Given the description of an element on the screen output the (x, y) to click on. 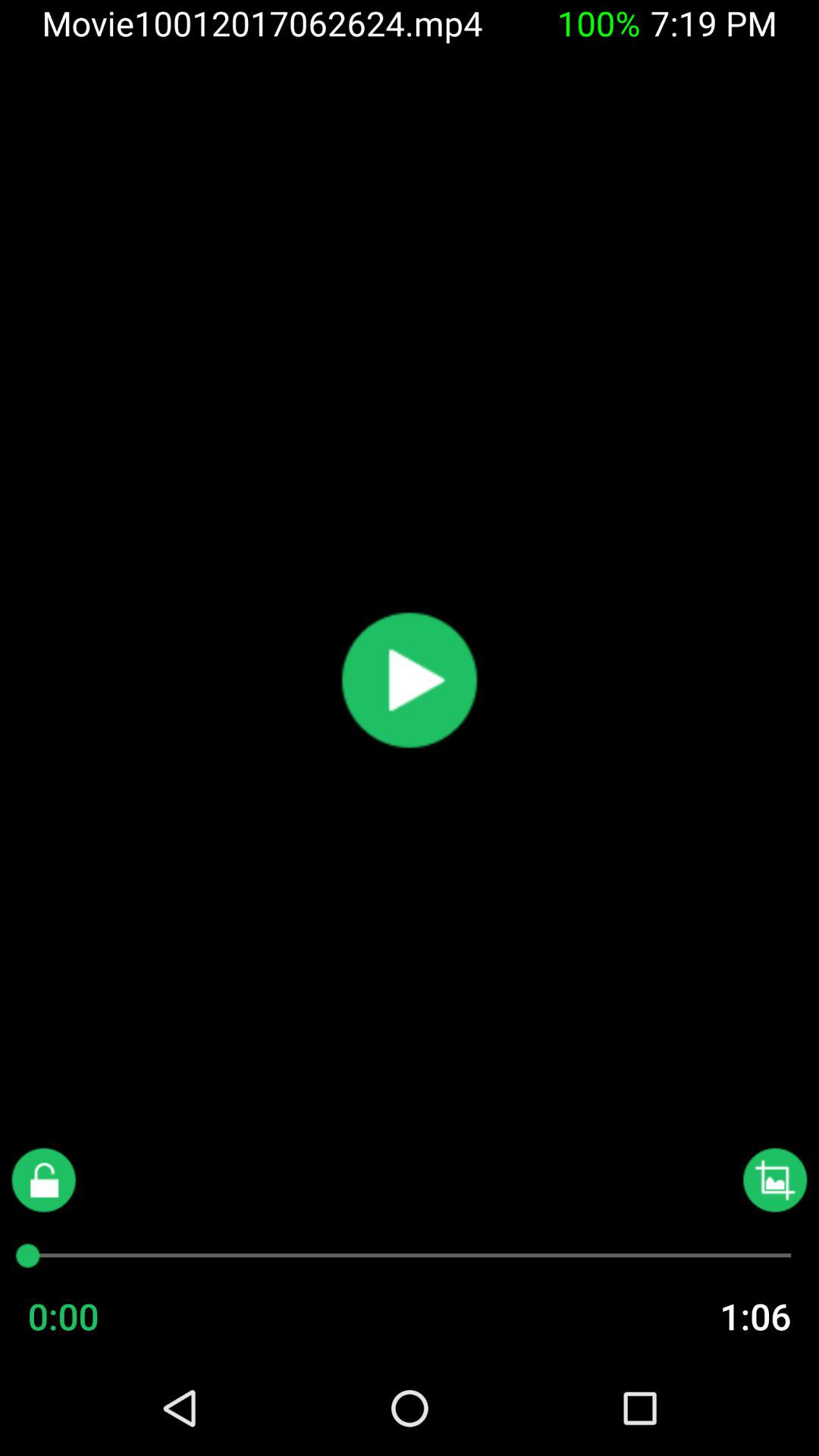
launch the item next to the 1:06 (93, 1315)
